Given the description of an element on the screen output the (x, y) to click on. 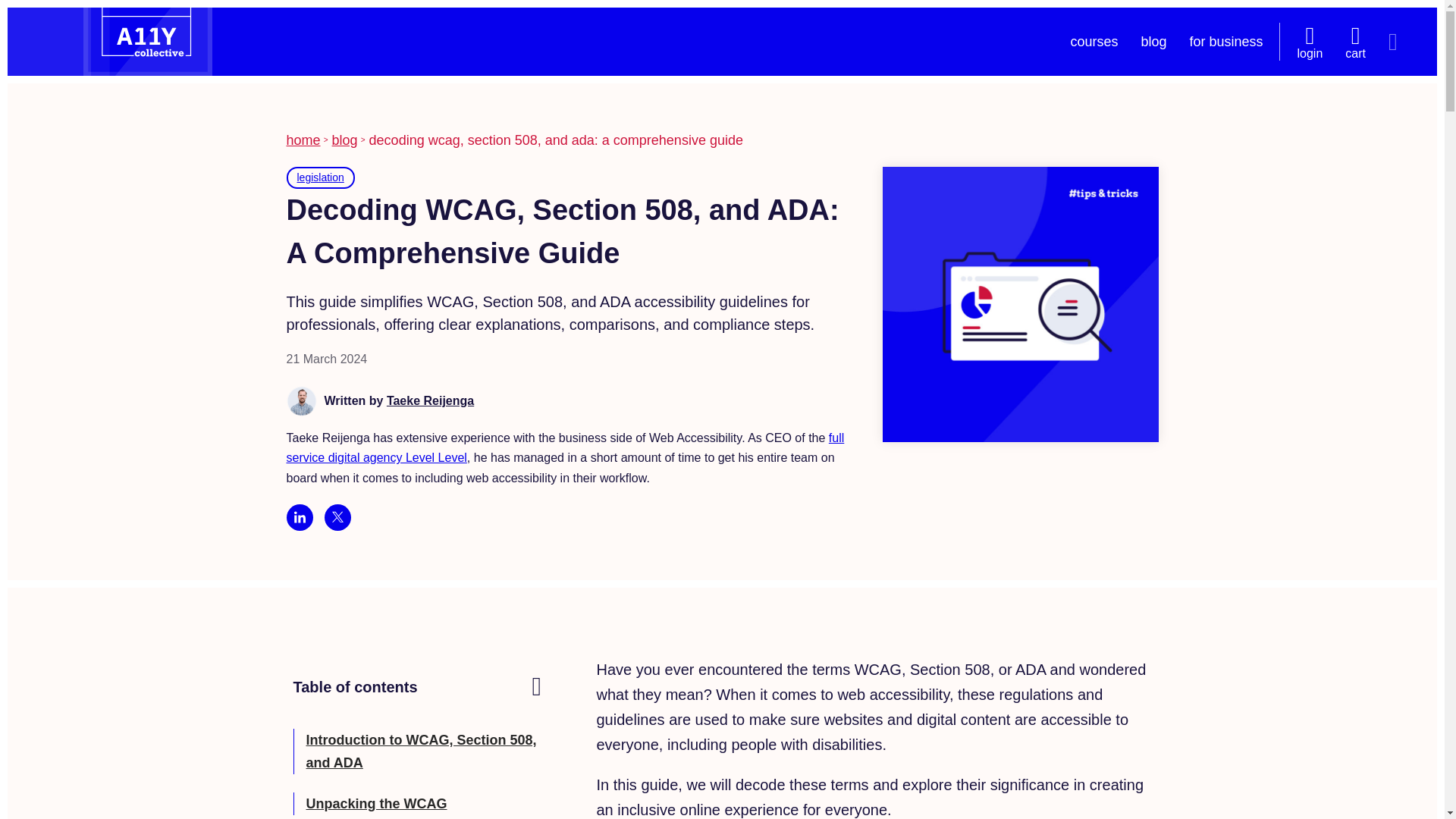
courses (1093, 41)
legislation (320, 177)
Taeke Reijenga (430, 400)
home (303, 139)
blog (344, 139)
Introduction to WCAG, Section 508, and ADA (421, 751)
for business (1225, 41)
full service digital agency Level Level (565, 447)
Unpacking the WCAG (375, 803)
